Given the description of an element on the screen output the (x, y) to click on. 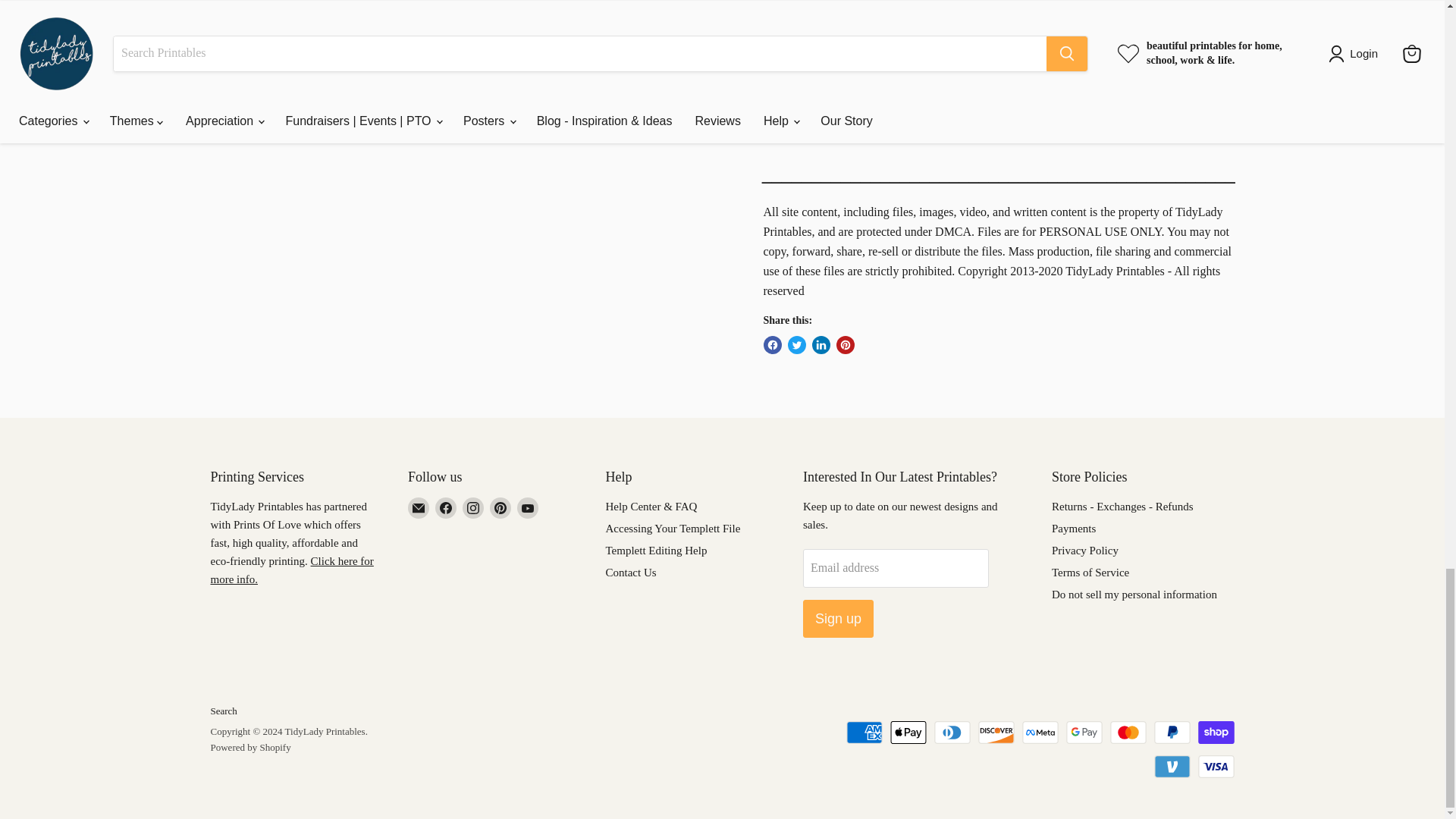
Facebook (446, 507)
Instagram (473, 507)
YouTube (527, 507)
Email (418, 507)
Pinterest (500, 507)
